Given the description of an element on the screen output the (x, y) to click on. 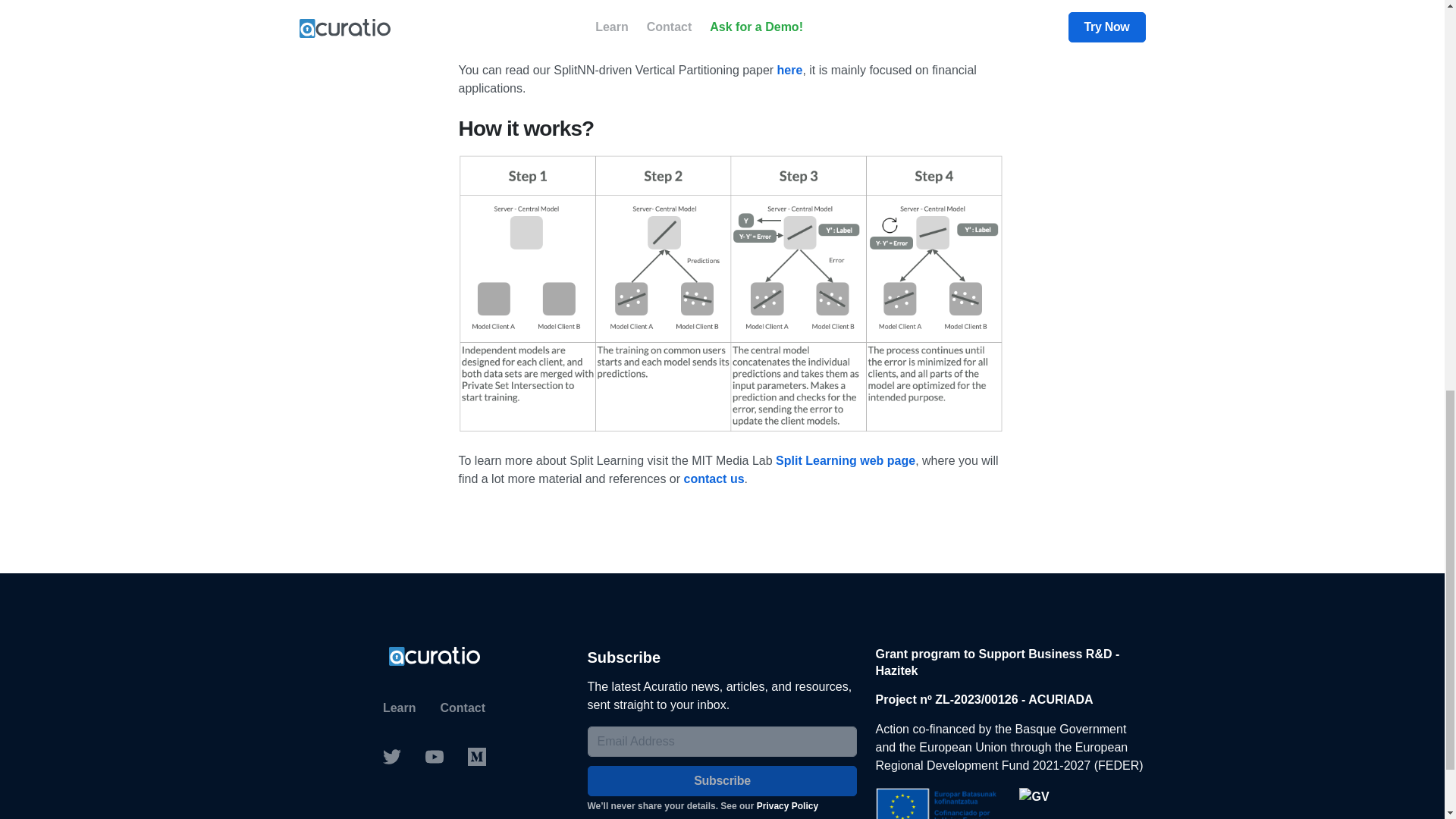
Twitter icon (390, 756)
Twitter icon (390, 757)
YouTube icon (433, 756)
Privacy Policy (787, 805)
Medium icon (475, 756)
YouTube video player (730, 18)
YouTube icon (433, 757)
Medium icon (475, 757)
contact us (714, 478)
Split Learning web page (845, 460)
